Given the description of an element on the screen output the (x, y) to click on. 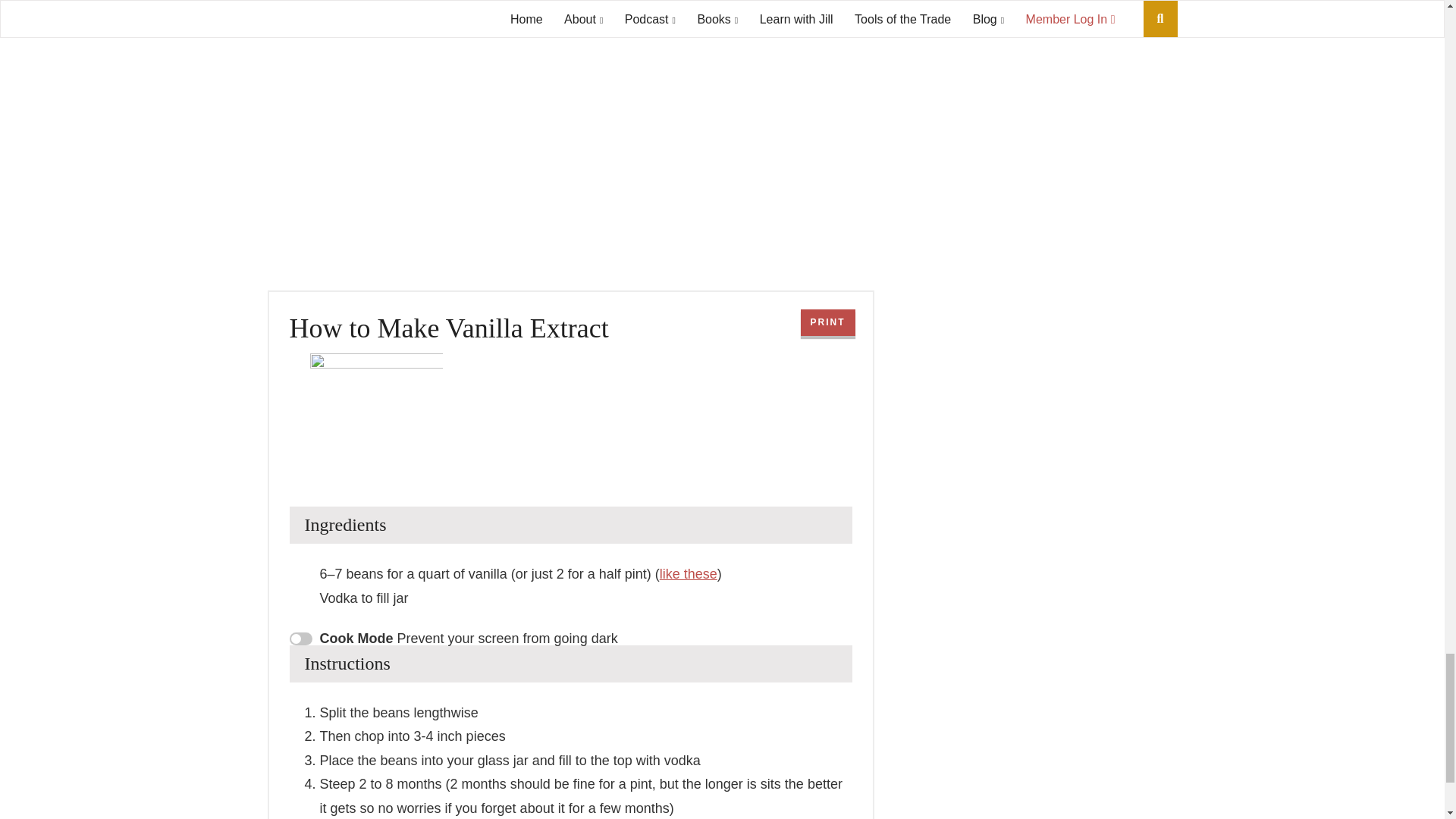
PRINT (828, 322)
like these (688, 573)
